Given the description of an element on the screen output the (x, y) to click on. 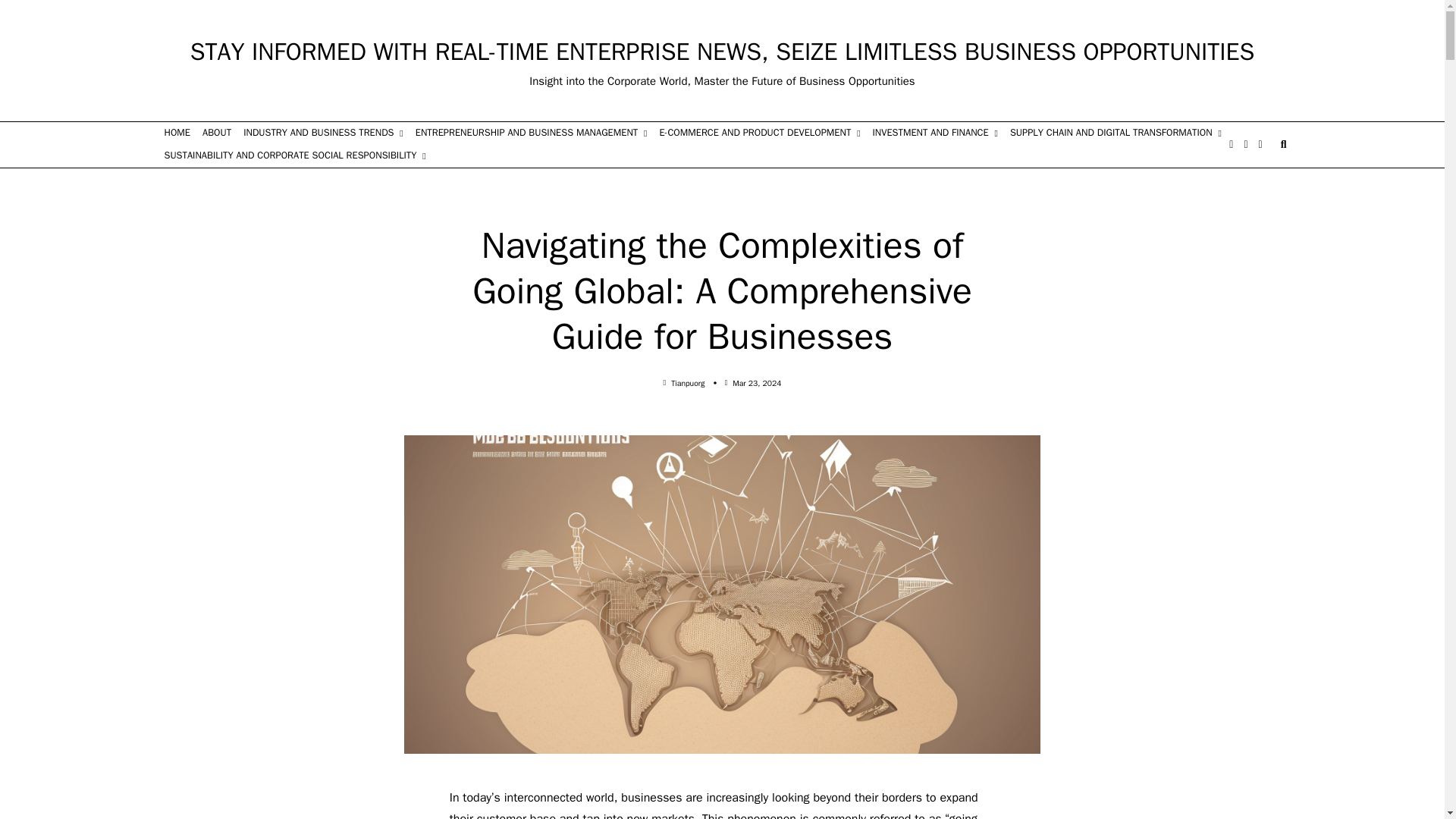
HOME (176, 133)
SUSTAINABILITY AND CORPORATE SOCIAL RESPONSIBILITY (293, 155)
ABOUT (216, 133)
INDUSTRY AND BUSINESS TRENDS (323, 133)
INVESTMENT AND FINANCE (935, 133)
ENTREPRENEURSHIP AND BUSINESS MANAGEMENT (531, 133)
E-COMMERCE AND PRODUCT DEVELOPMENT (759, 133)
SUPPLY CHAIN AND DIGITAL TRANSFORMATION (1115, 133)
